Given the description of an element on the screen output the (x, y) to click on. 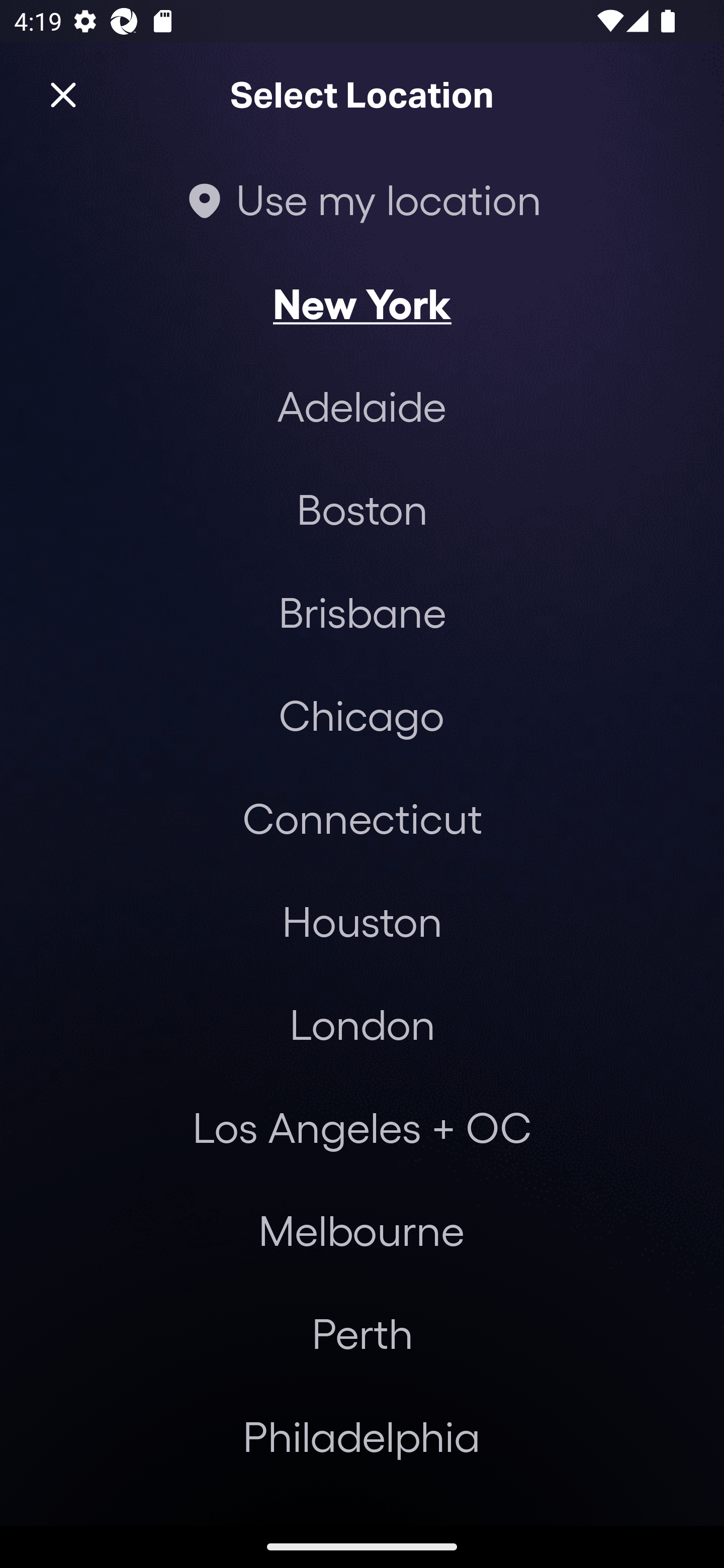
Close (62, 95)
   Use my location (362, 198)
New York (361, 302)
Adelaide (361, 405)
Boston (361, 508)
Brisbane (361, 611)
Chicago (361, 714)
Connecticut (361, 817)
Houston (361, 920)
London (361, 1023)
Los Angeles + OC (361, 1127)
Melbourne (361, 1230)
Perth (361, 1332)
Philadelphia (361, 1436)
